Given the description of an element on the screen output the (x, y) to click on. 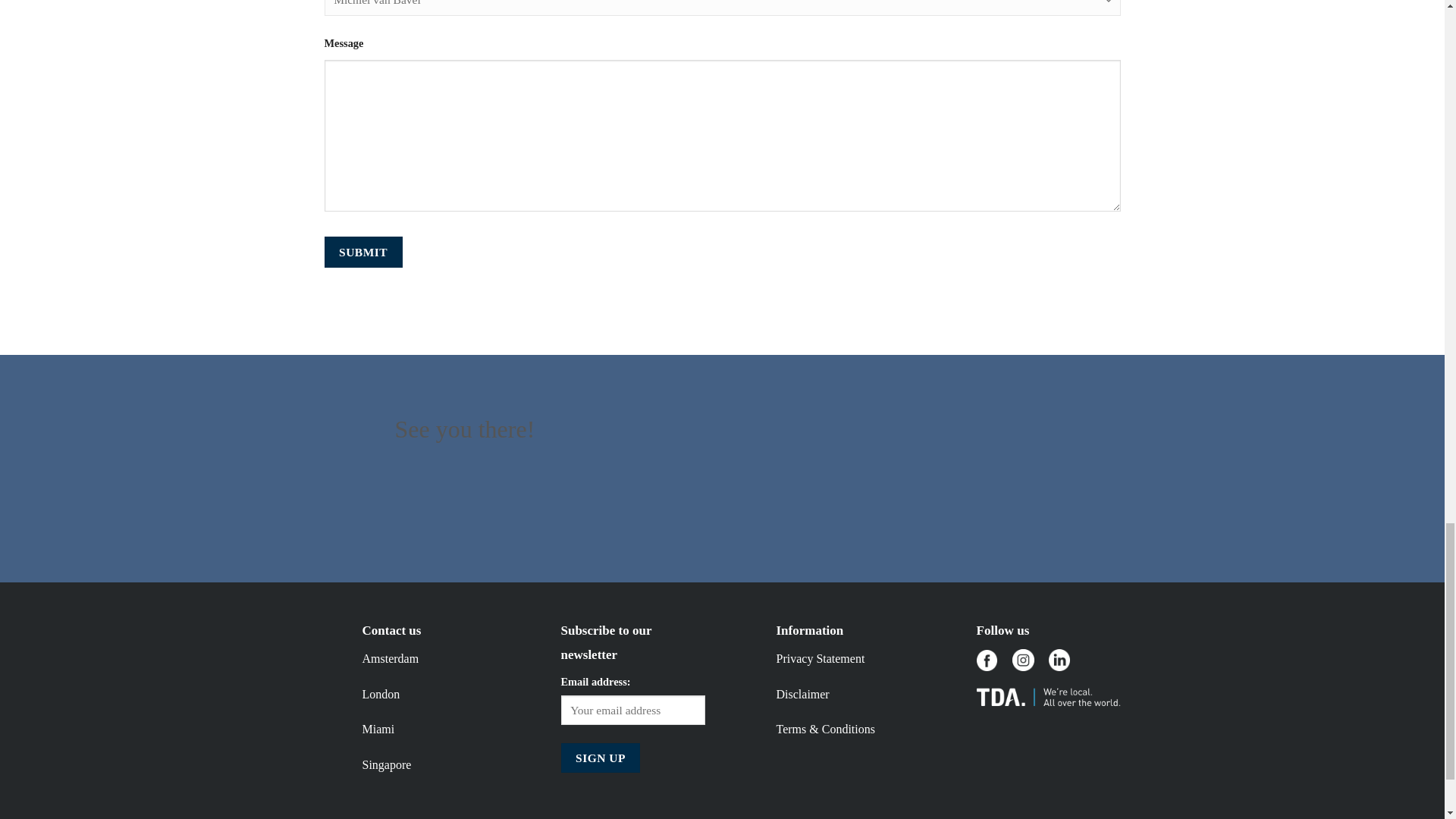
Sign up (600, 757)
Disclaimer (802, 694)
London (381, 694)
Privacy Statement (820, 658)
Amsterdam (390, 658)
Submit (363, 252)
Sign up (600, 757)
Miami (378, 728)
Singapore (387, 764)
Submit (363, 252)
